Given the description of an element on the screen output the (x, y) to click on. 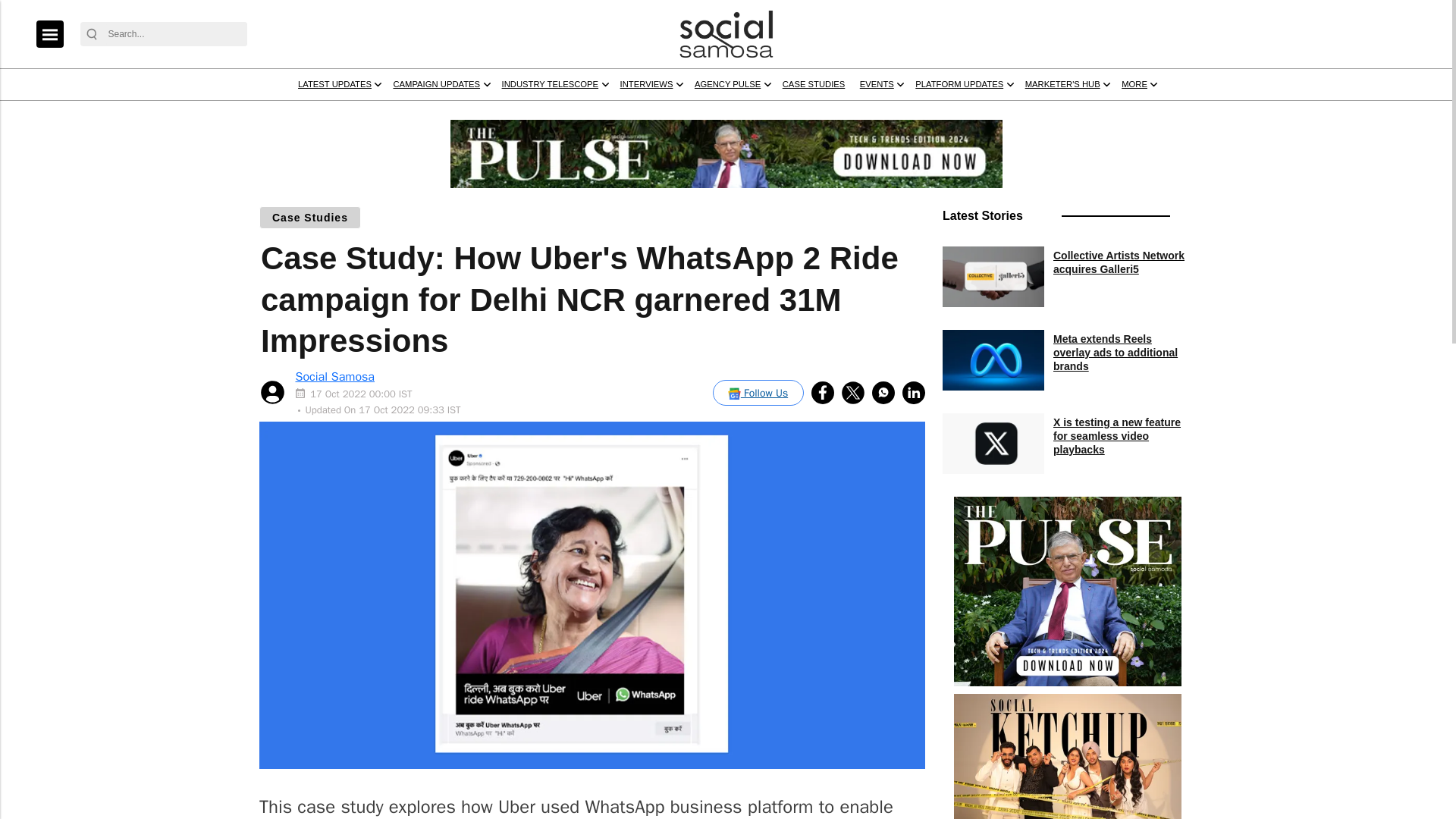
CAMPAIGN UPDATES (582, 113)
INDUSTRY TELESCOPE (732, 113)
INTERVIEWS (861, 113)
LATEST UPDATES (446, 113)
AGENCY PULSE (969, 113)
EVENTS (1168, 113)
CASE STUDIES (1085, 113)
PLATFORM UPDATES (1278, 113)
